Given the description of an element on the screen output the (x, y) to click on. 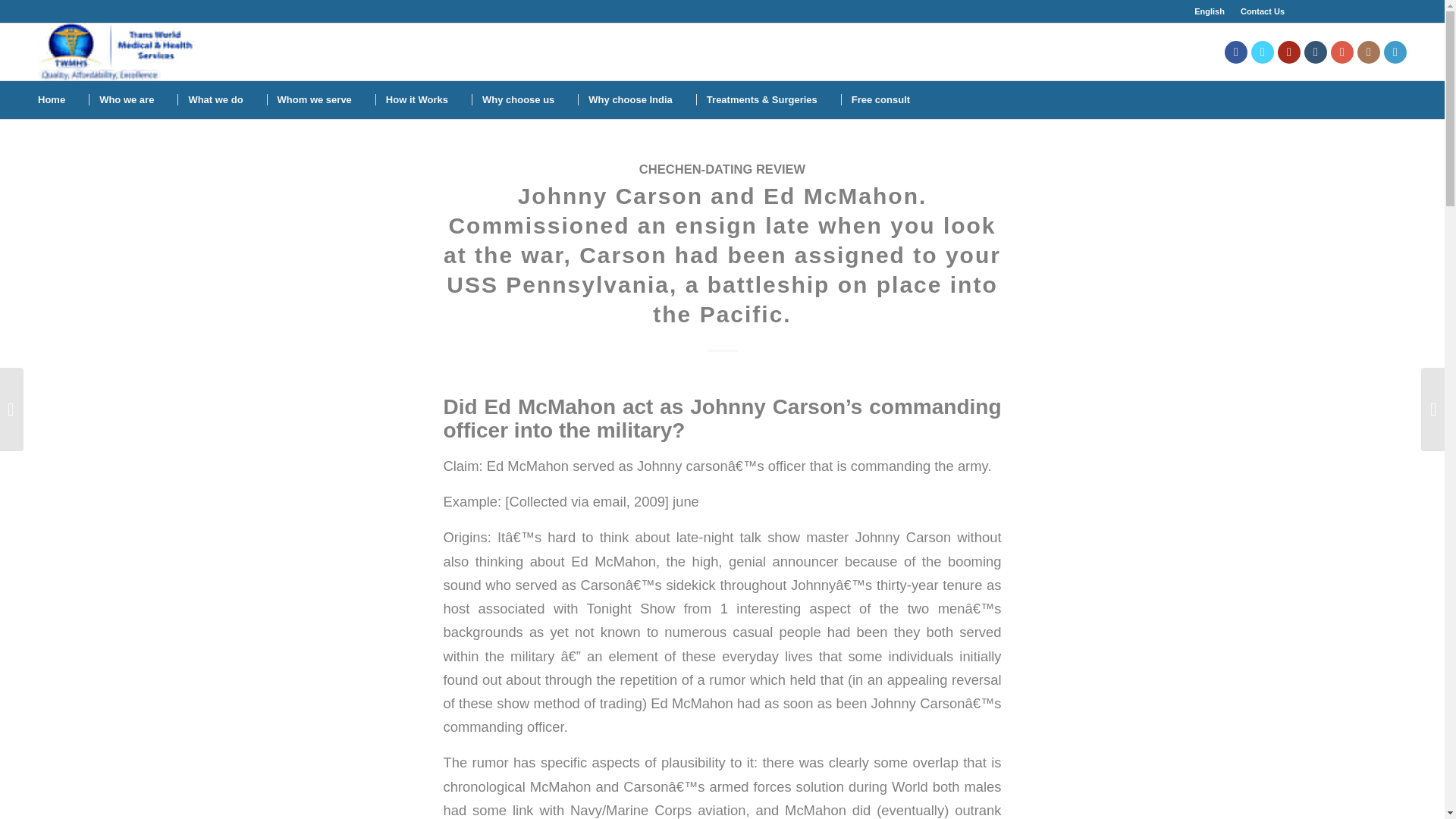
Gplus (1342, 51)
Instagram (1368, 51)
English (1208, 11)
Contact Us (1262, 11)
Facebook (1235, 51)
Whom we serve (314, 99)
Linkedin (1395, 51)
Who we are (125, 99)
English (1208, 11)
How it Works (416, 99)
